Given the description of an element on the screen output the (x, y) to click on. 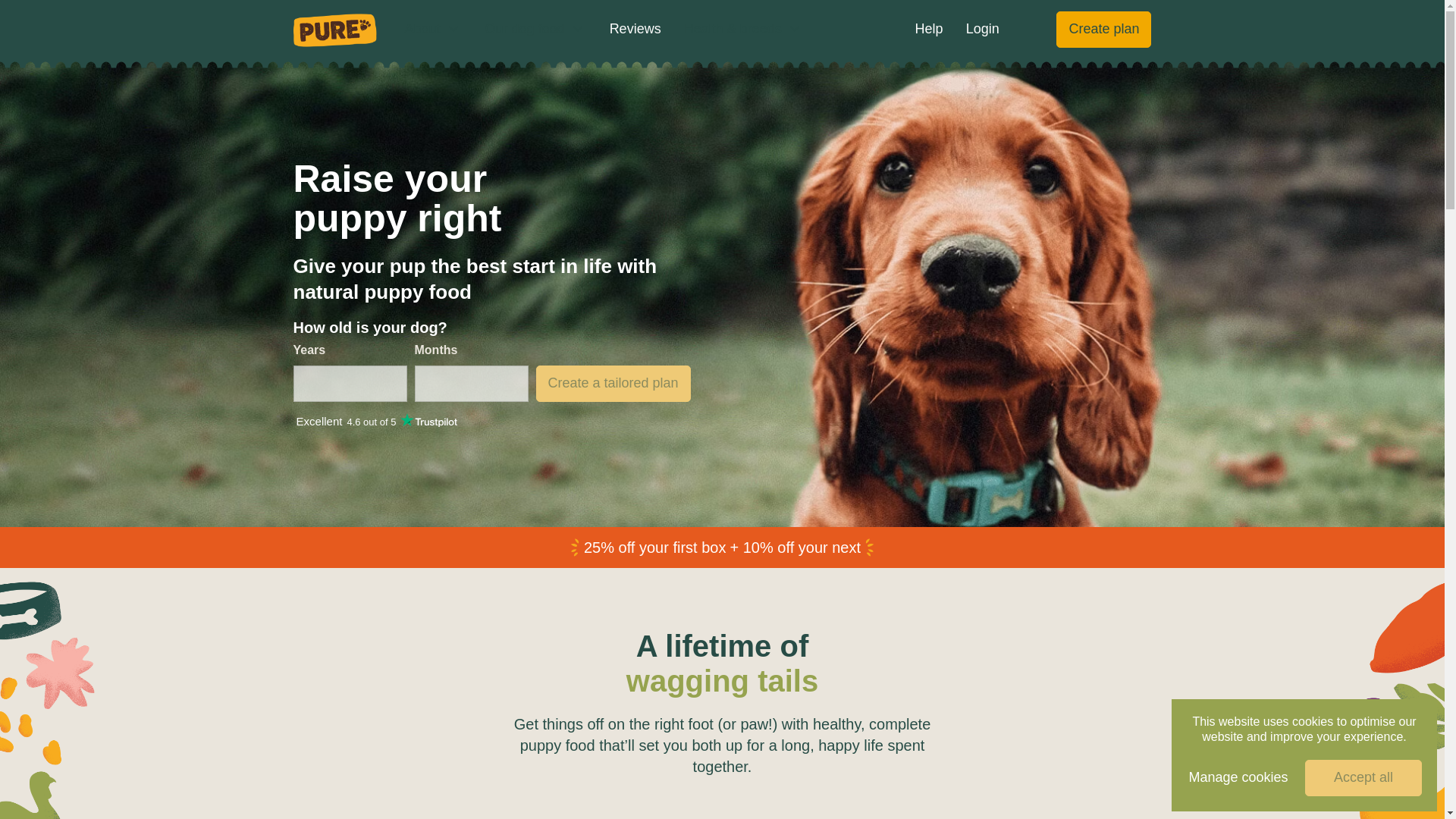
Customer reviews powered by Trustpilot (376, 420)
Reviews (635, 29)
Our dog food (536, 29)
Pure Pet Food (333, 30)
About (433, 29)
